Given the description of an element on the screen output the (x, y) to click on. 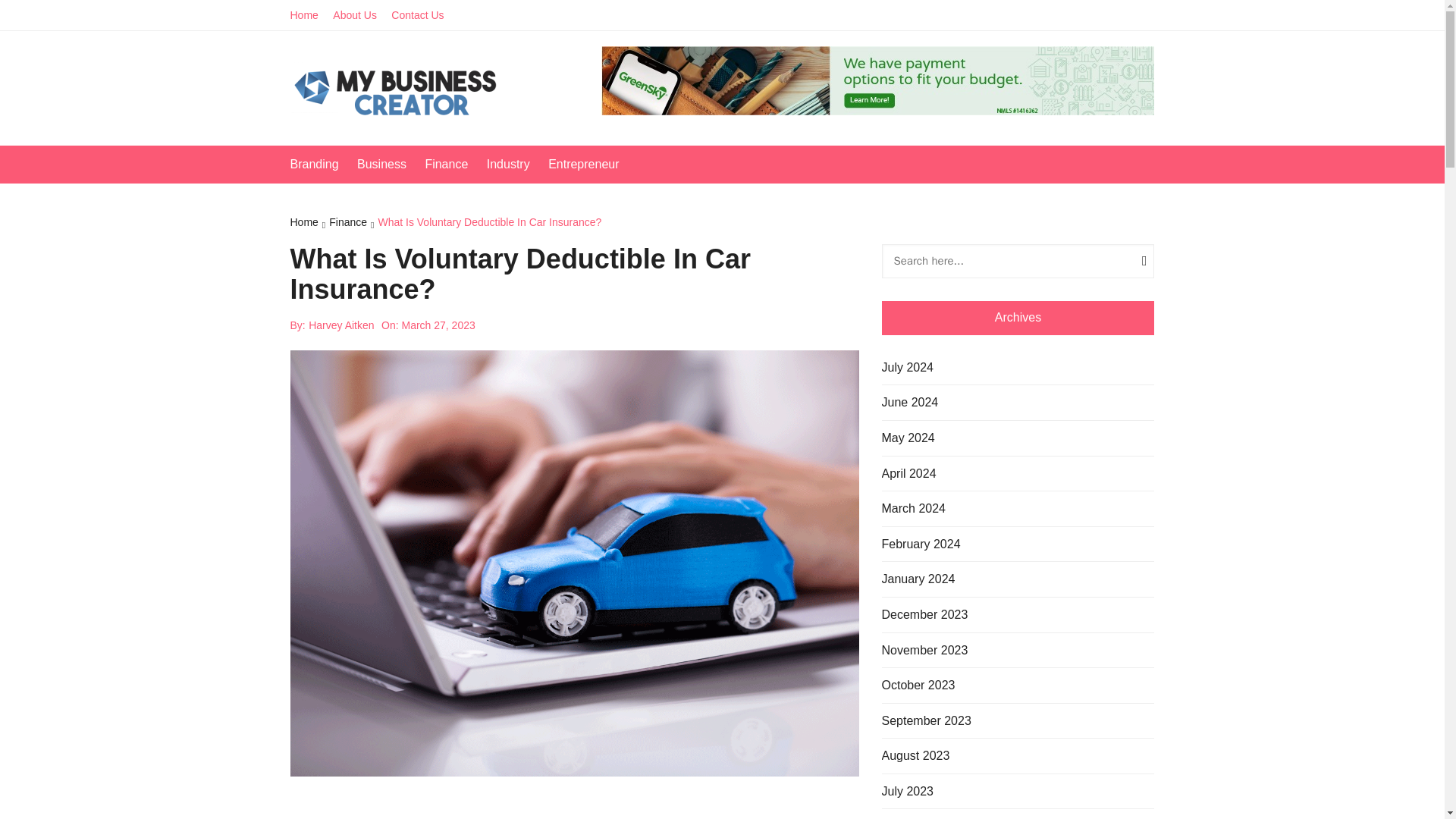
Business (389, 164)
July 2023 (906, 791)
September 2023 (925, 721)
February 2024 (919, 544)
Entrepreneur (590, 164)
Home (309, 223)
November 2023 (924, 650)
What Is Voluntary Deductible In Car Insurance? (489, 223)
October 2023 (917, 685)
About Us (360, 15)
Finance (454, 164)
Branding (321, 164)
December 2023 (924, 614)
August 2023 (914, 755)
March 27, 2023 (437, 324)
